Given the description of an element on the screen output the (x, y) to click on. 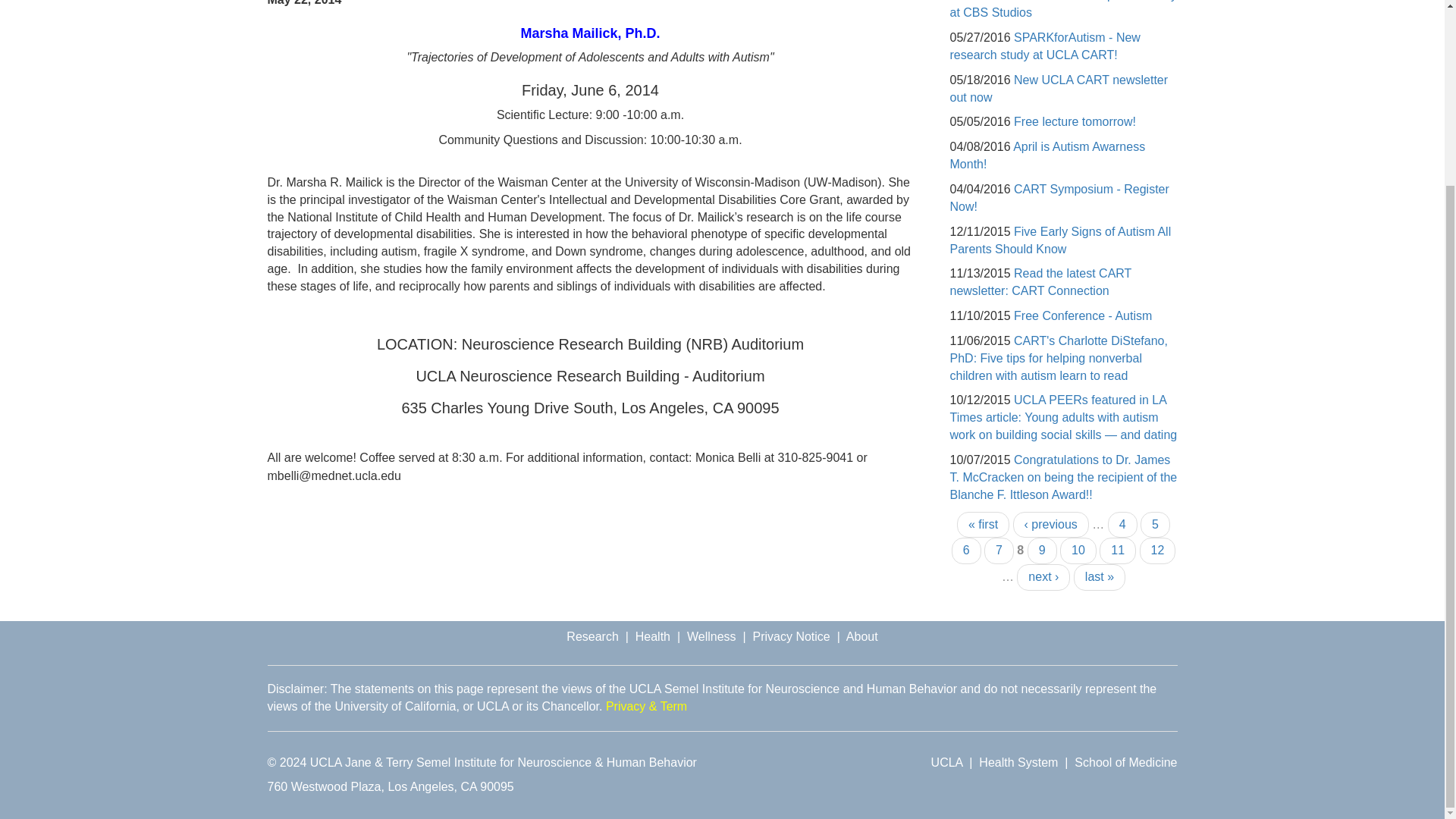
Go to page 7 (998, 550)
Go to page 9 (1042, 550)
Go to page 4 (1122, 524)
Go to page 11 (1117, 550)
Go to previous page (1051, 524)
Go to page 12 (1158, 550)
Go to page 5 (1155, 524)
Go to next page (1043, 577)
University of California Los Angeles (946, 762)
Go to page 6 (966, 550)
Go to last page (1099, 577)
Go to page 10 (1077, 550)
Go to first page (982, 524)
